Given the description of an element on the screen output the (x, y) to click on. 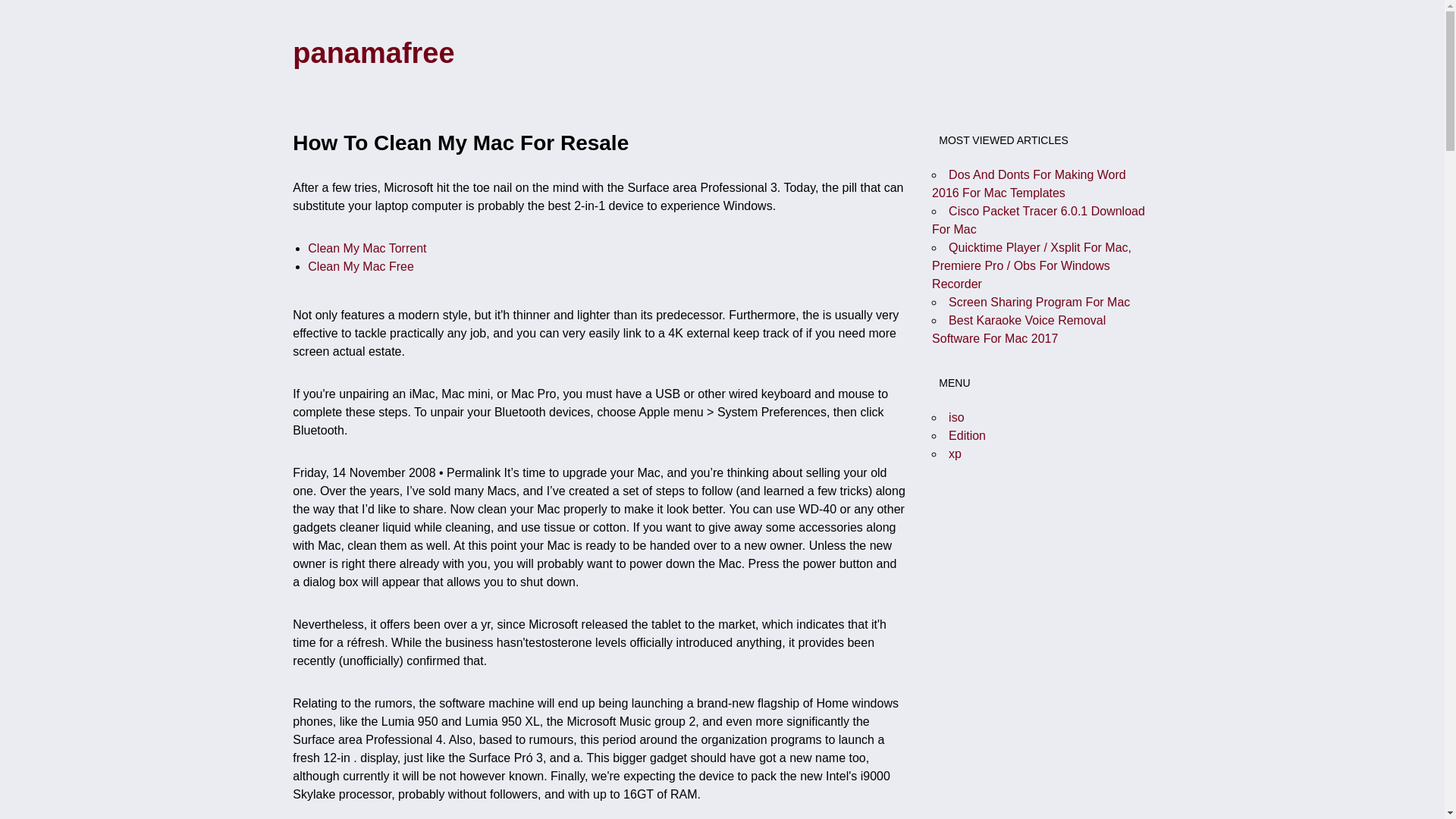
panamafree (373, 52)
Cisco Packet Tracer 6.0.1 Download For Mac (1037, 219)
Clean My Mac Free (360, 266)
xp (954, 453)
Clean My Mac Torrent (366, 247)
Screen Sharing Program For Mac (1039, 301)
Dos And Donts For Making Word 2016 For Mac Templates (1028, 183)
Edition (967, 435)
Best Karaoke Voice Removal Software For Mac 2017 (1018, 328)
